Given the description of an element on the screen output the (x, y) to click on. 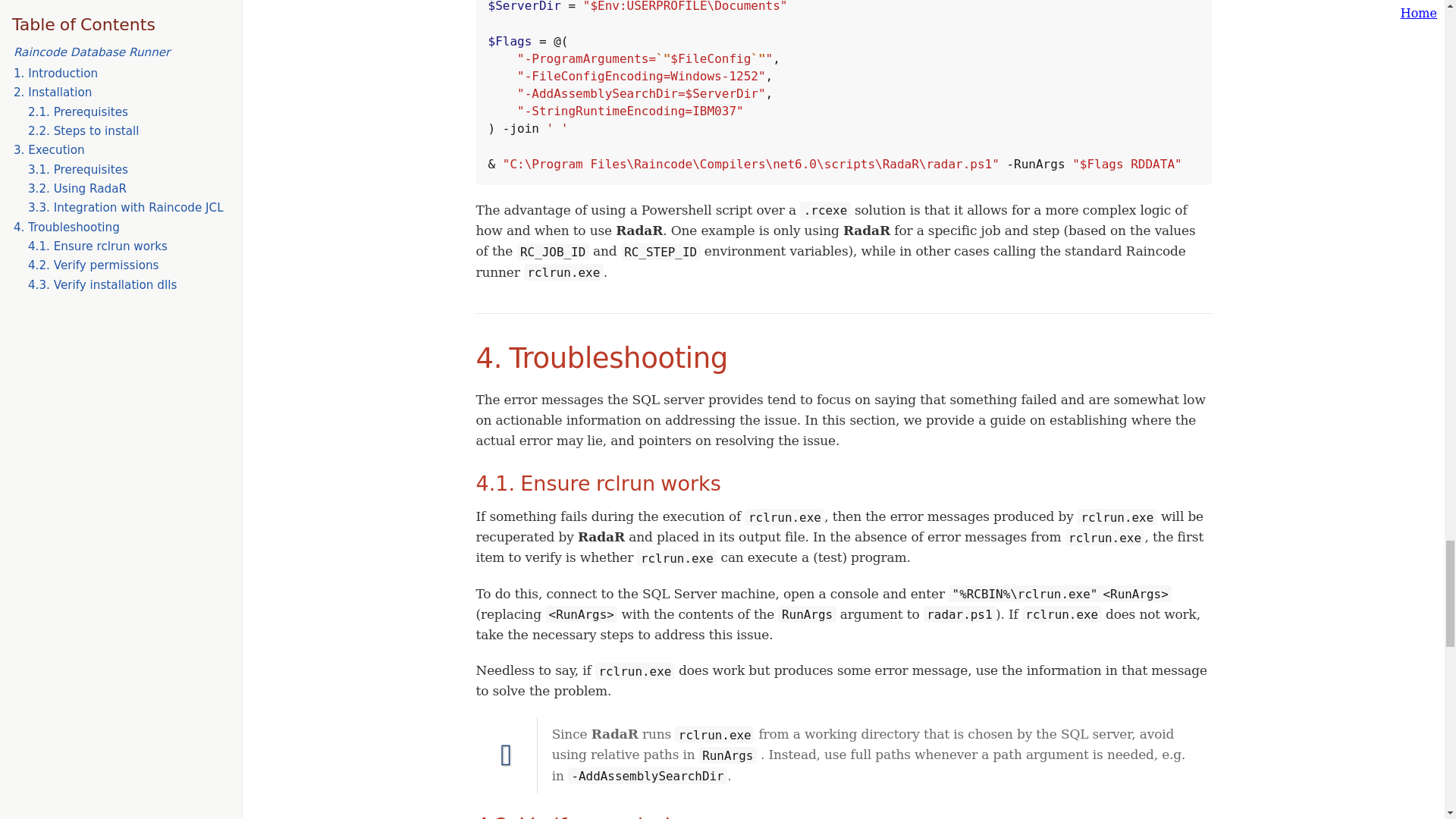
Note (506, 755)
